Given the description of an element on the screen output the (x, y) to click on. 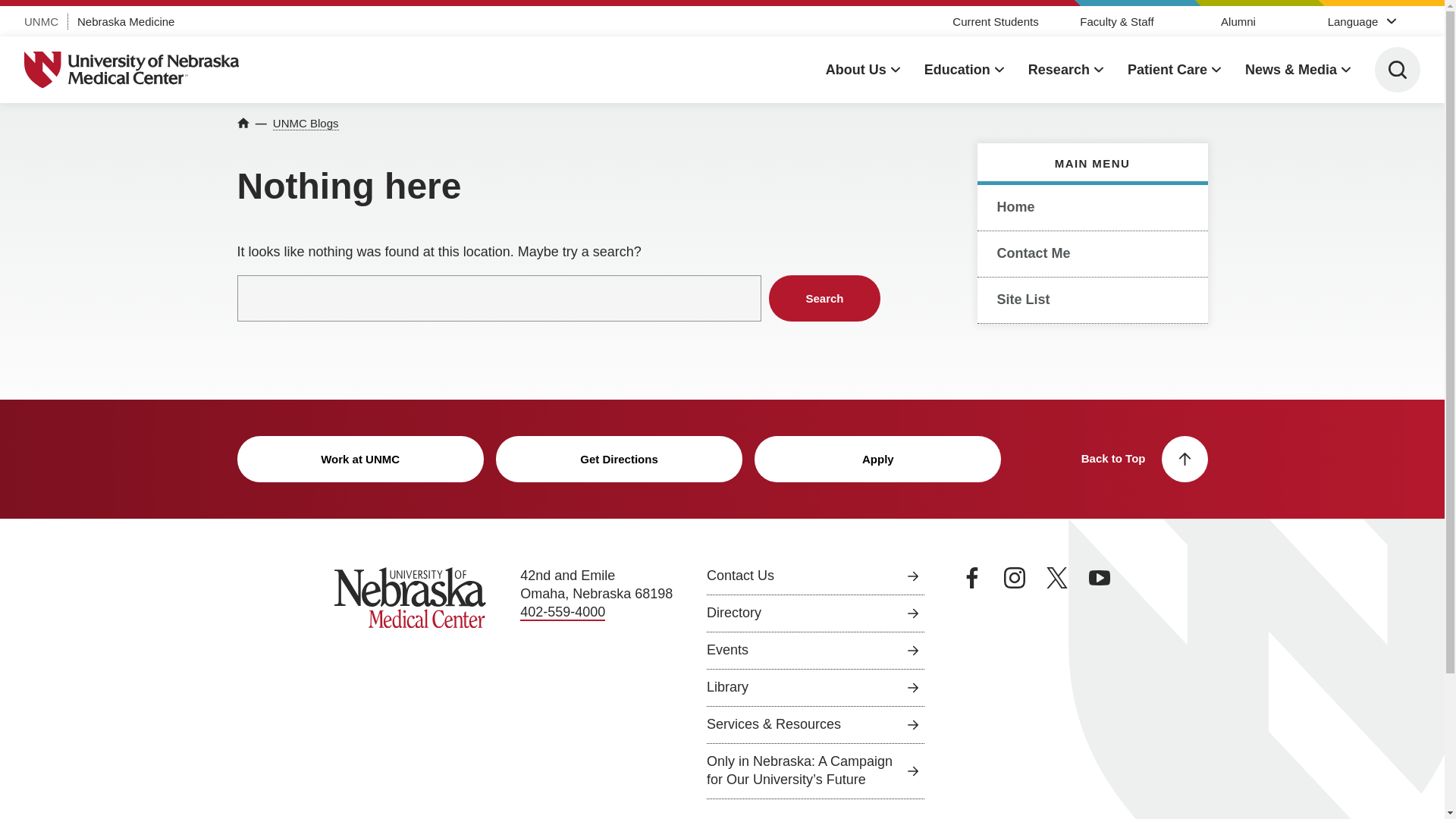
UNMC (41, 21)
Language (1359, 20)
Nebraska Medicine (125, 21)
Back to Top (1144, 458)
Alumni (1238, 21)
University of Nebraska Medical Center (132, 69)
About Us (862, 69)
Current Students (995, 21)
